Given the description of an element on the screen output the (x, y) to click on. 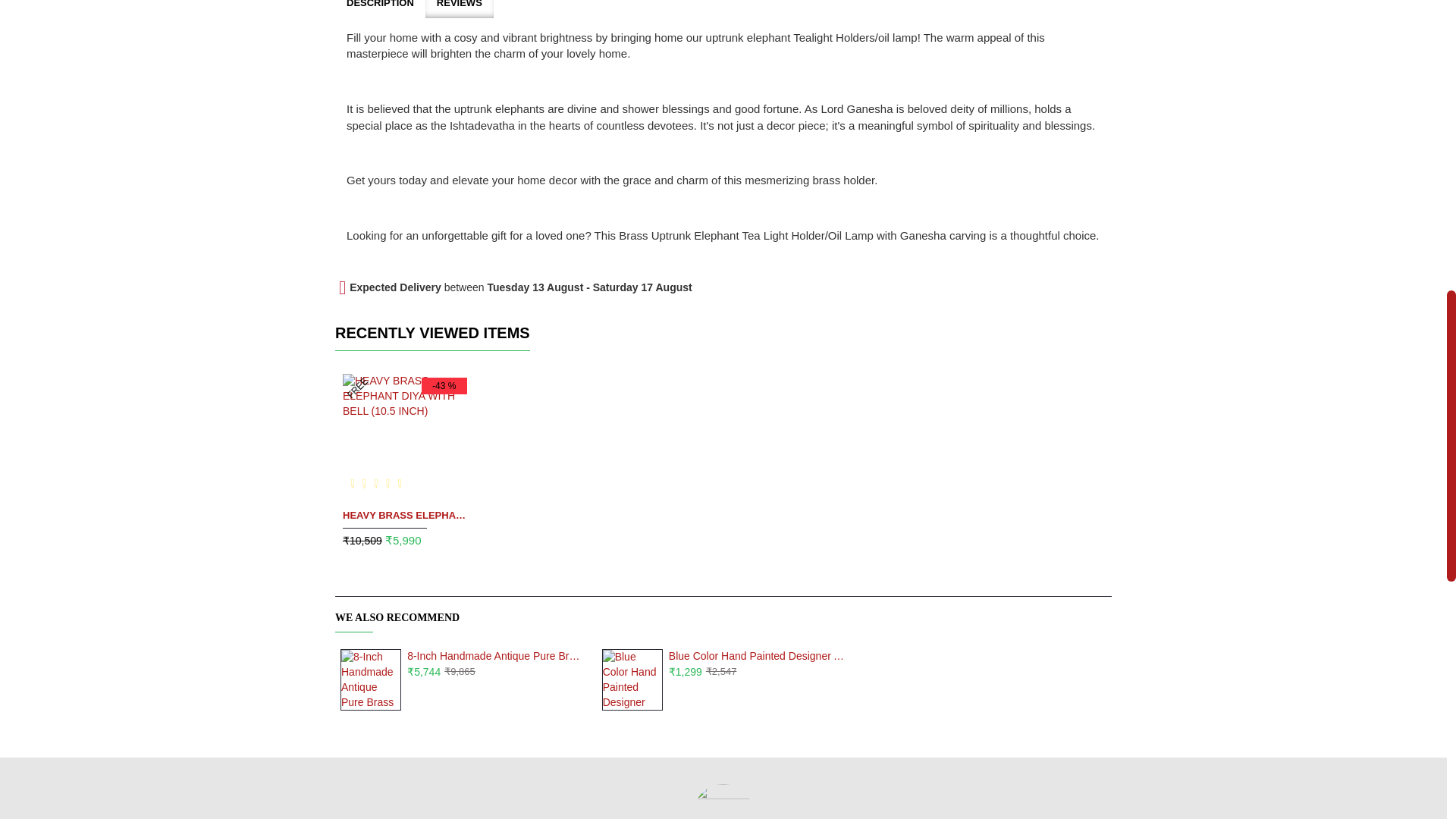
 8-Inch Handmade Antique Pure Brass Separate Ram Darbar Idol (370, 679)
